Given the description of an element on the screen output the (x, y) to click on. 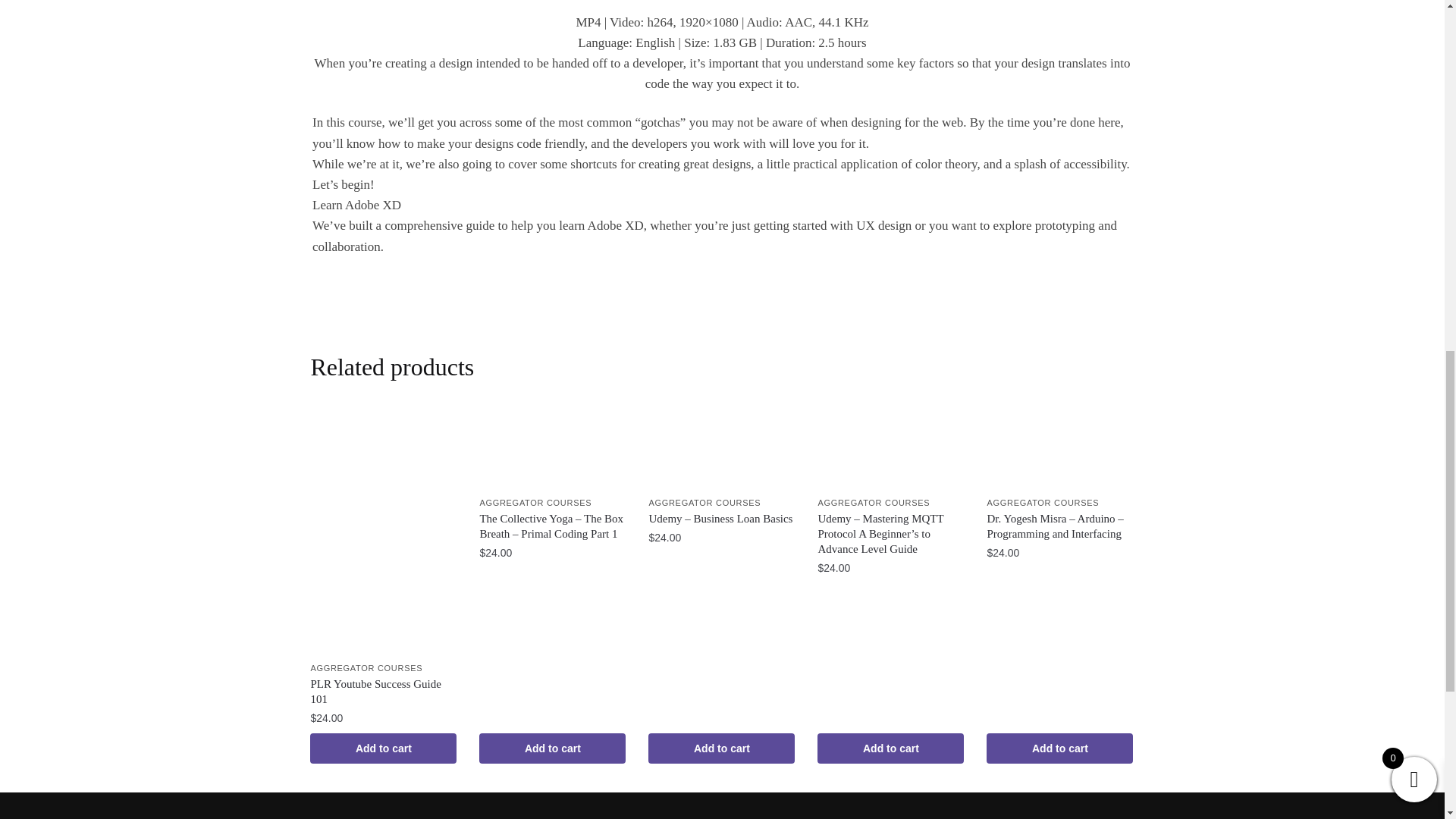
Add to cart (552, 748)
AGGREGATOR COURSES (366, 667)
Add to cart (383, 748)
PLR Youtube Success Guide 101 (383, 691)
AGGREGATOR COURSES (703, 501)
70c22a3335c223935c302fa685cd598a-1 (721, 2)
AGGREGATOR COURSES (535, 501)
